Given the description of an element on the screen output the (x, y) to click on. 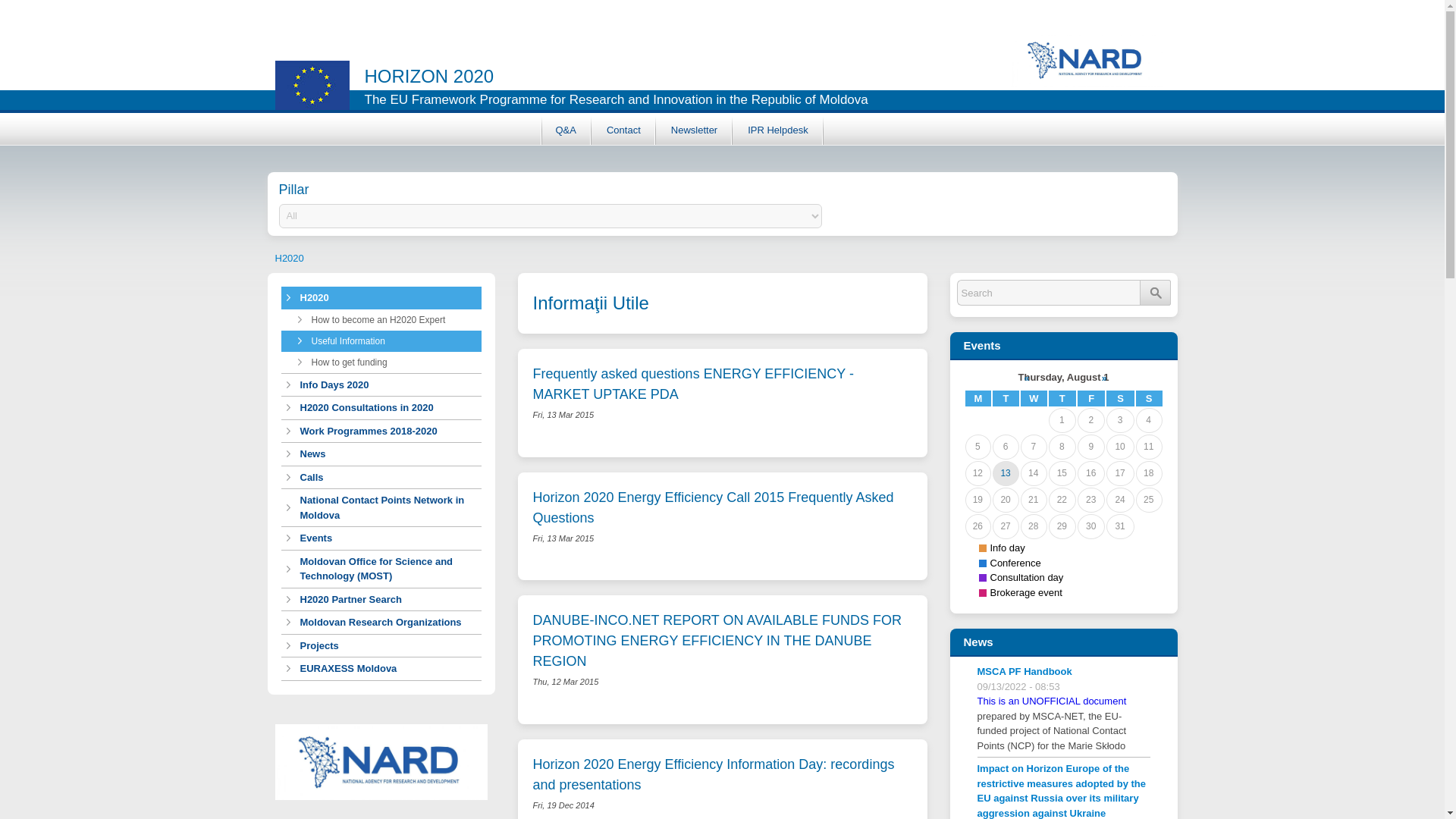
H2020 (288, 256)
Home page (705, 51)
H2020 Consultations in 2020 (380, 407)
Contact (623, 130)
Newsletter (694, 130)
IPR Helpdesk (777, 130)
